Given the description of an element on the screen output the (x, y) to click on. 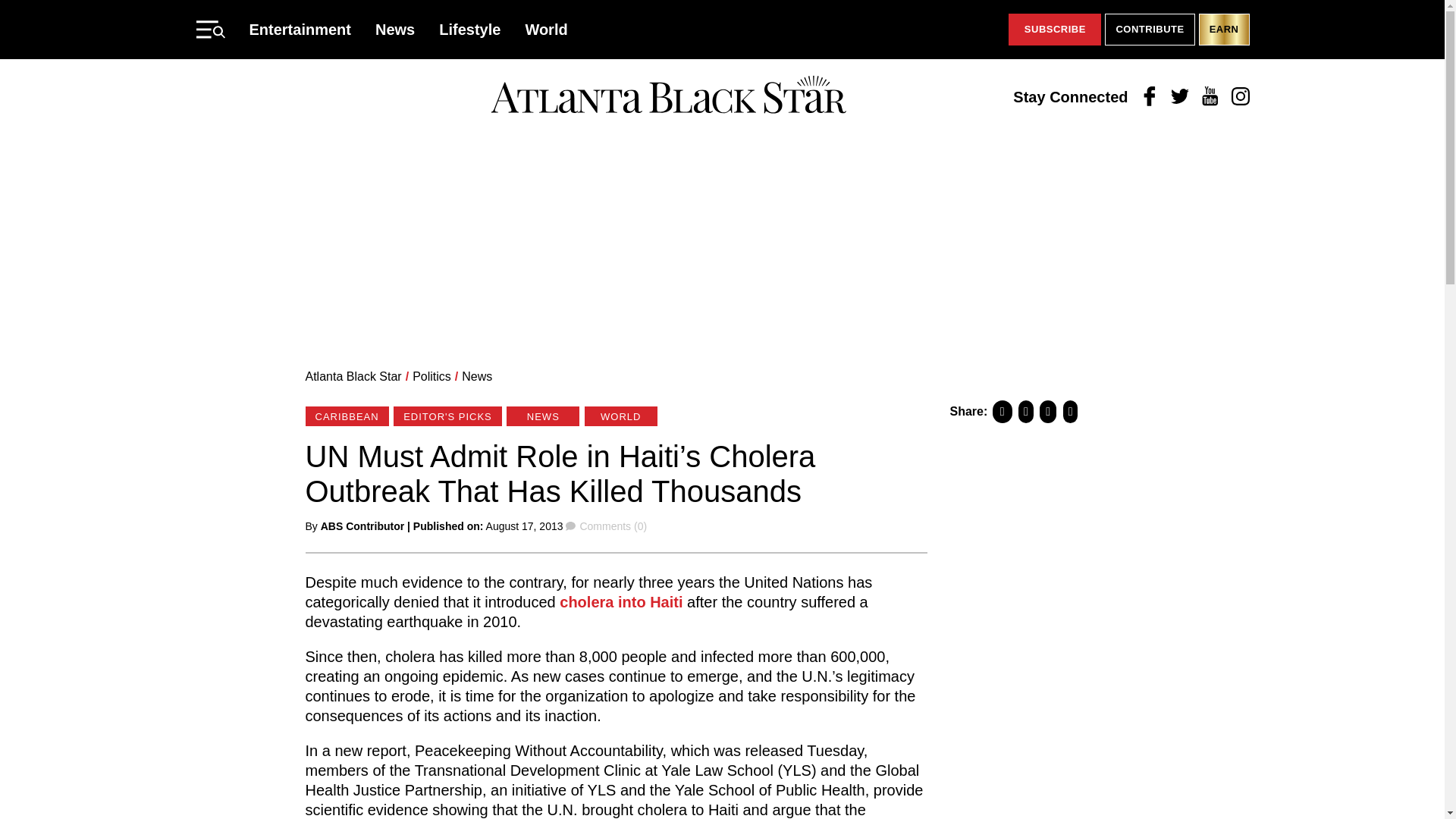
CONTRIBUTE (1149, 29)
Go to Atlanta Black Star. (352, 376)
World (545, 29)
Entertainment (299, 29)
SUBSCRIBE (1054, 29)
Youtube (1210, 96)
Lifestyle (469, 29)
Atlanta Black Star (352, 376)
Atlanta Black Star (667, 96)
Facebook (1149, 96)
Instagram (1240, 96)
Twitter (1179, 96)
Go to the News Category archives. (476, 376)
News (394, 29)
Go to the Politics Category archives. (431, 376)
